Given the description of an element on the screen output the (x, y) to click on. 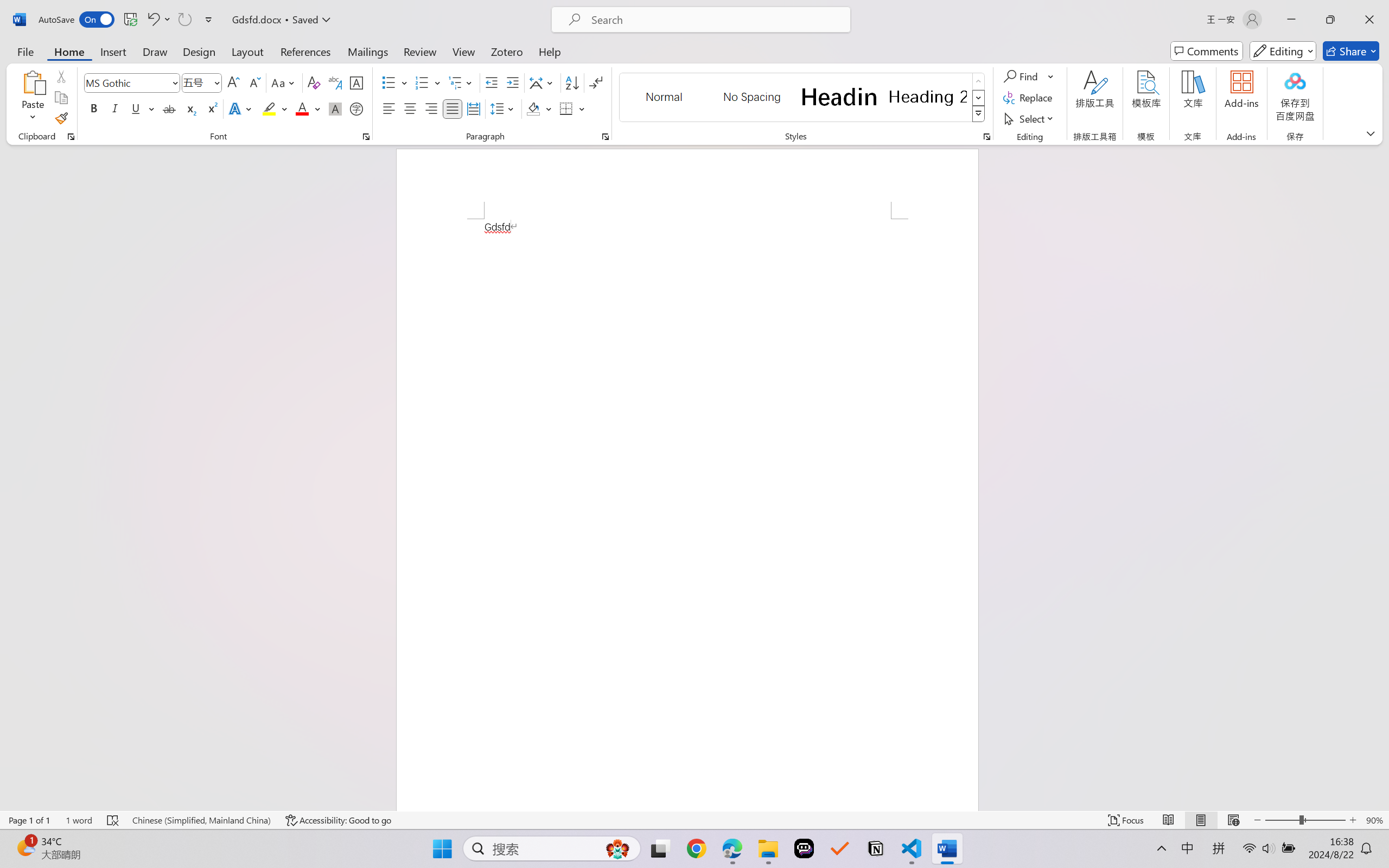
Font Color Red (302, 108)
Shading RGB(0, 0, 0) (533, 108)
Replace... (1029, 97)
